Given the description of an element on the screen output the (x, y) to click on. 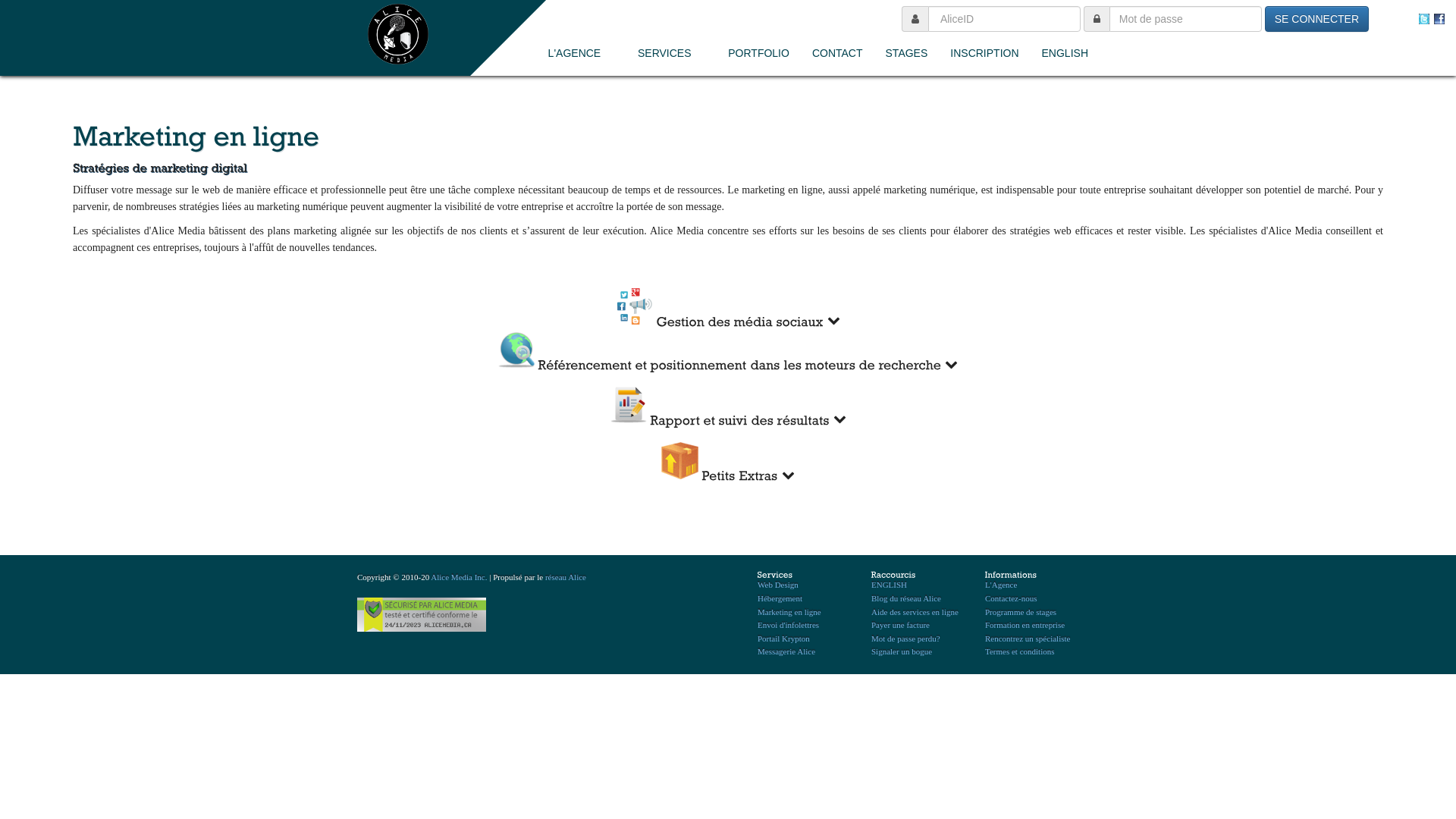
PORTFOLIO Element type: text (758, 53)
Portail Krypton Element type: text (783, 638)
Petits Extras Element type: text (727, 462)
Termes et conditions Element type: text (1019, 650)
INSCRIPTION Element type: text (983, 53)
Web Design Element type: text (777, 584)
Formation en entreprise Element type: text (1024, 624)
Contactez-nous Element type: text (1010, 597)
STAGES Element type: text (906, 53)
L'Agence Element type: text (1000, 584)
Messagerie Alice Element type: text (786, 650)
Programme de stages Element type: text (1020, 611)
Alice Media Inc. Element type: text (458, 576)
Payer une facture Element type: text (900, 624)
L'AGENCE Element type: text (581, 53)
SE CONNECTER Element type: text (1316, 18)
Marketing en ligne Element type: text (789, 611)
ENGLISH Element type: text (1064, 53)
Mot de passe perdu? Element type: text (905, 638)
Envoi d'infolettres Element type: text (788, 624)
SERVICES Element type: text (671, 53)
CONTACT Element type: text (837, 53)
ENGLISH Element type: text (888, 584)
Signaler un bogue Element type: text (901, 650)
Aide des services en ligne Element type: text (914, 611)
